Given the description of an element on the screen output the (x, y) to click on. 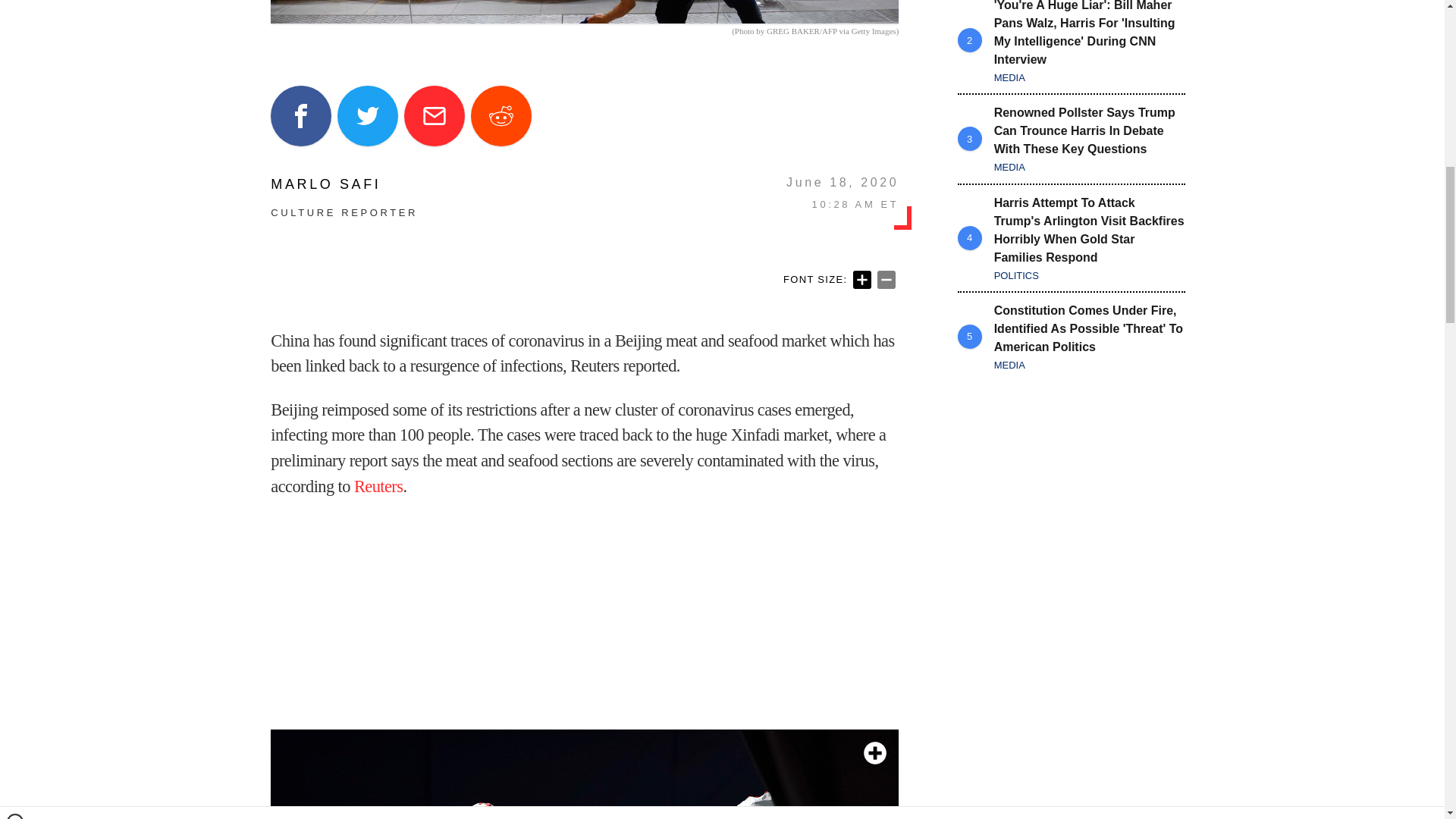
Reuters (378, 486)
View More Articles By Marlo Safi (343, 184)
MARLO SAFI (343, 184)
CHINA-HEALTH-VIRUS (584, 11)
Close window (14, 6)
